Given the description of an element on the screen output the (x, y) to click on. 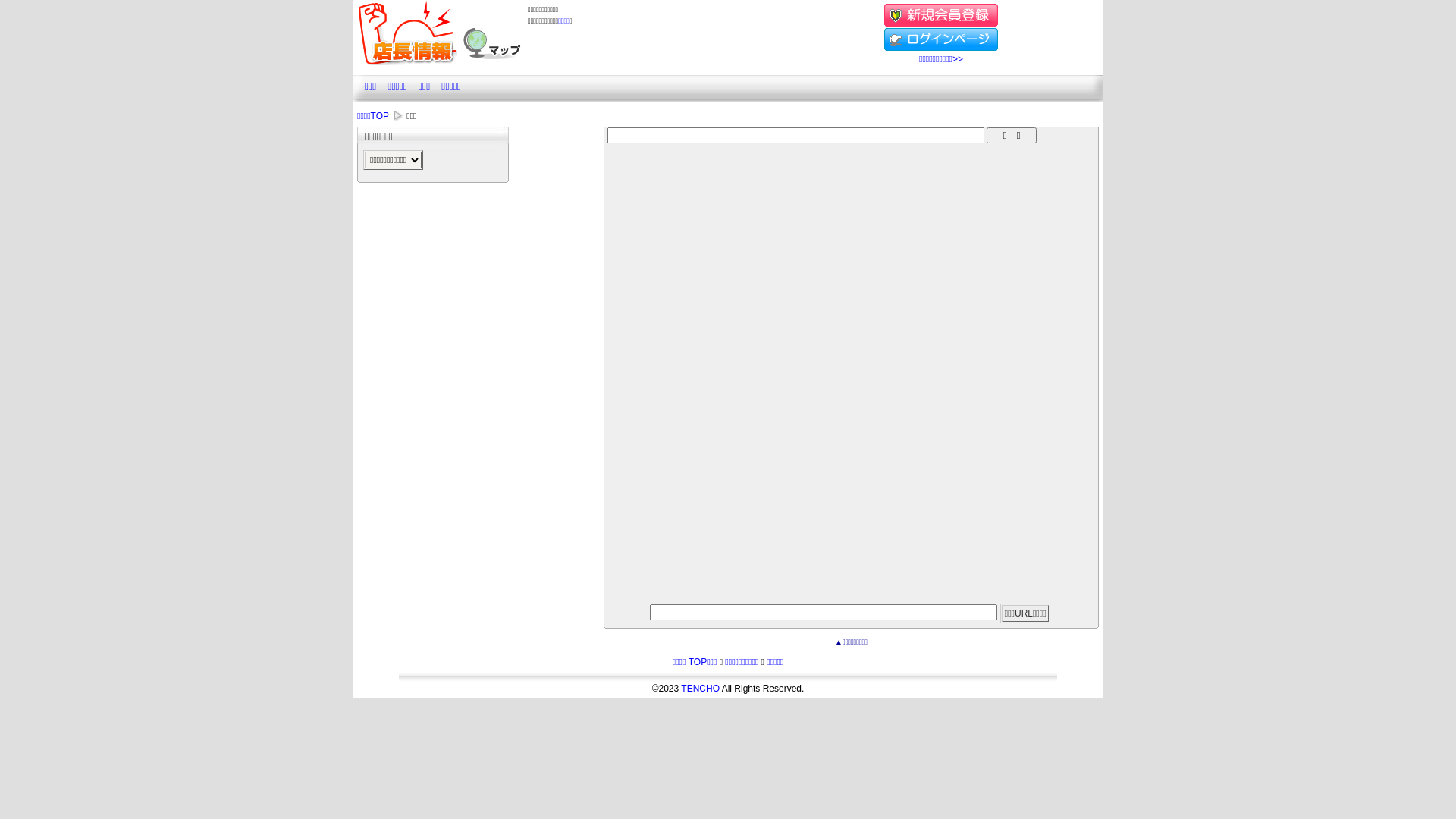
TENCHO Element type: text (699, 688)
